Given the description of an element on the screen output the (x, y) to click on. 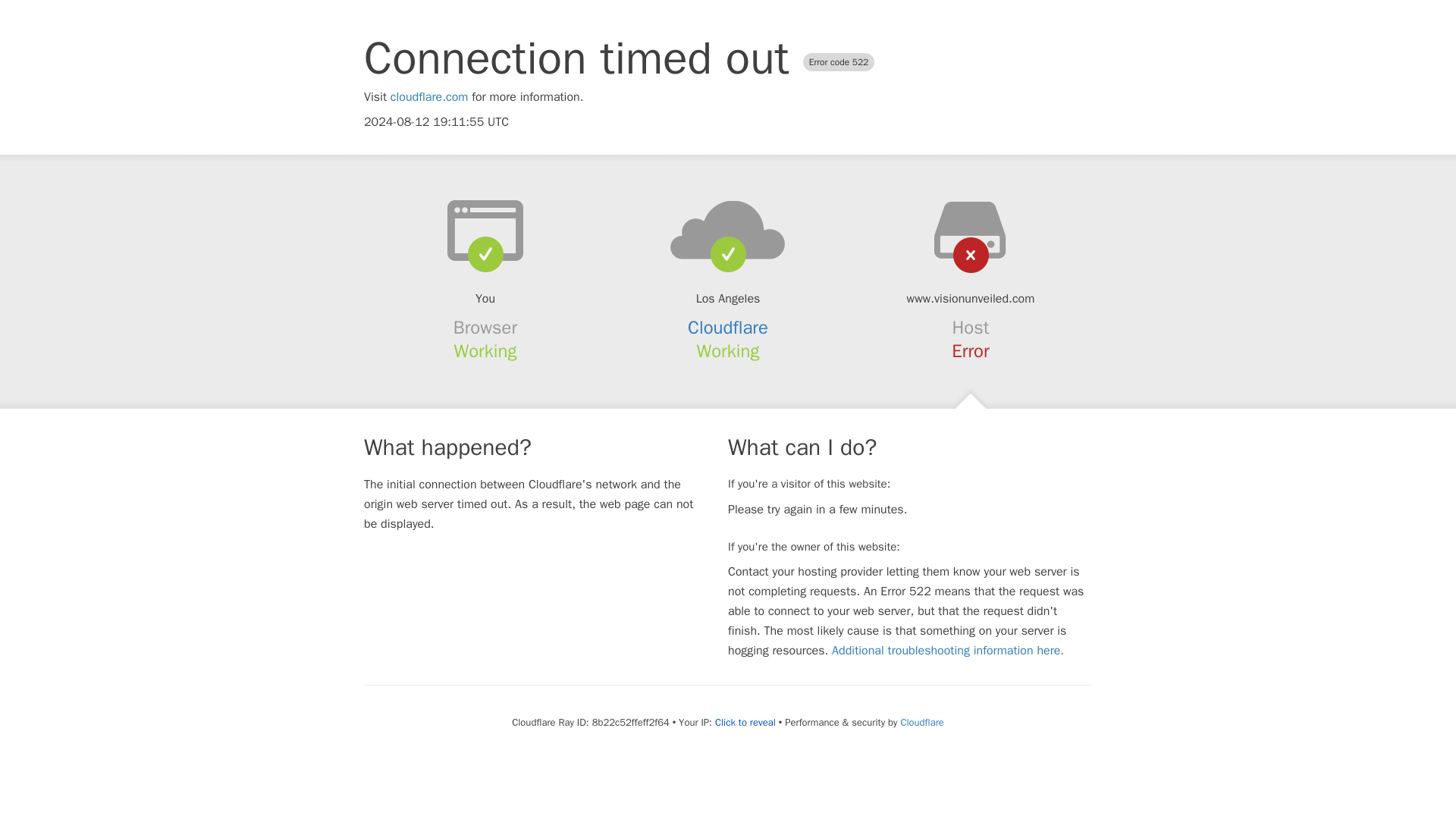
cloudflare.com (429, 96)
Cloudflare (727, 327)
Cloudflare (921, 721)
Additional troubleshooting information here. (947, 650)
Click to reveal (745, 722)
